Given the description of an element on the screen output the (x, y) to click on. 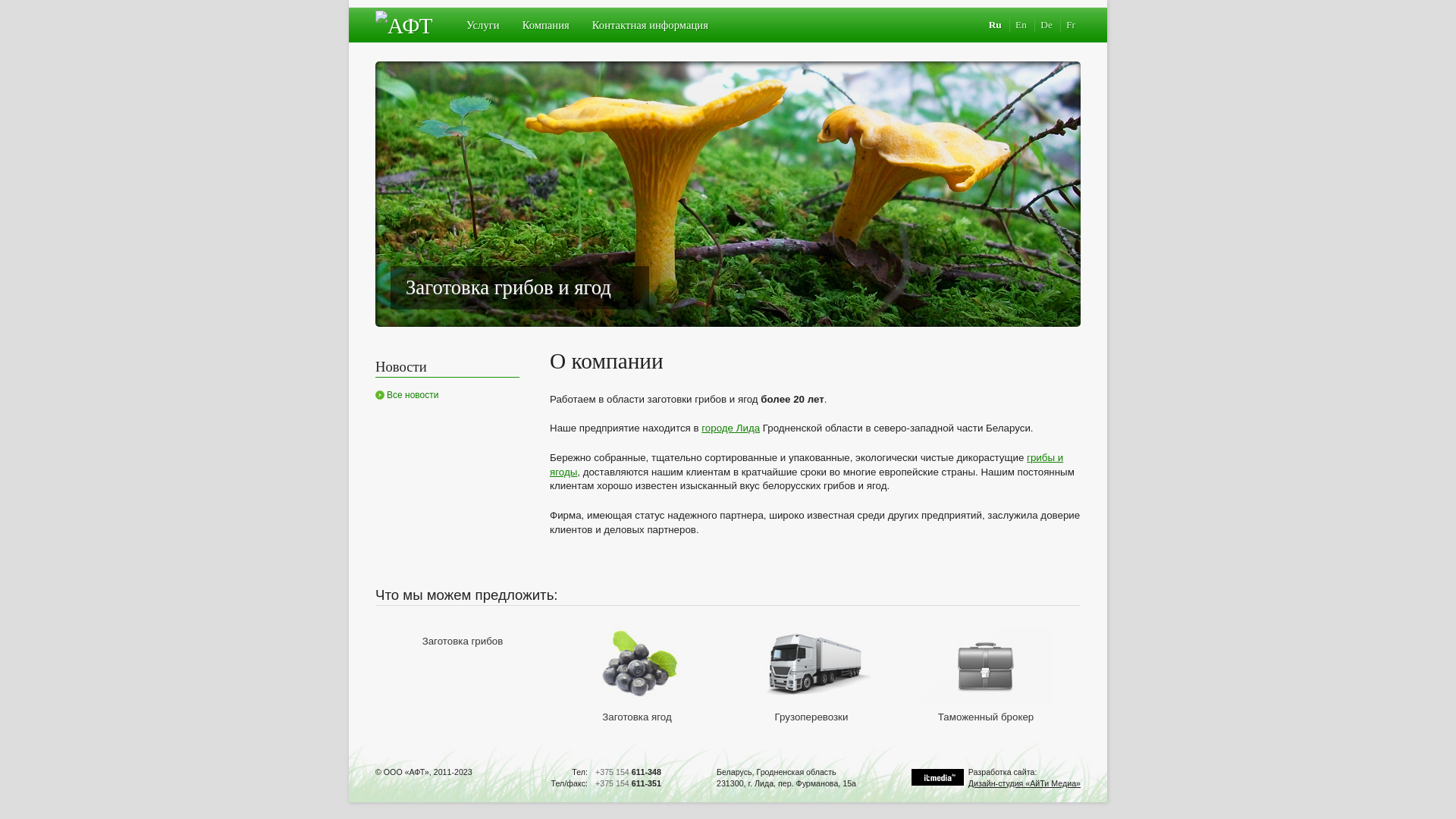
Fr Element type: text (1070, 24)
De Element type: text (1045, 24)
Ru Element type: text (995, 24)
En Element type: text (1020, 24)
